Given the description of an element on the screen output the (x, y) to click on. 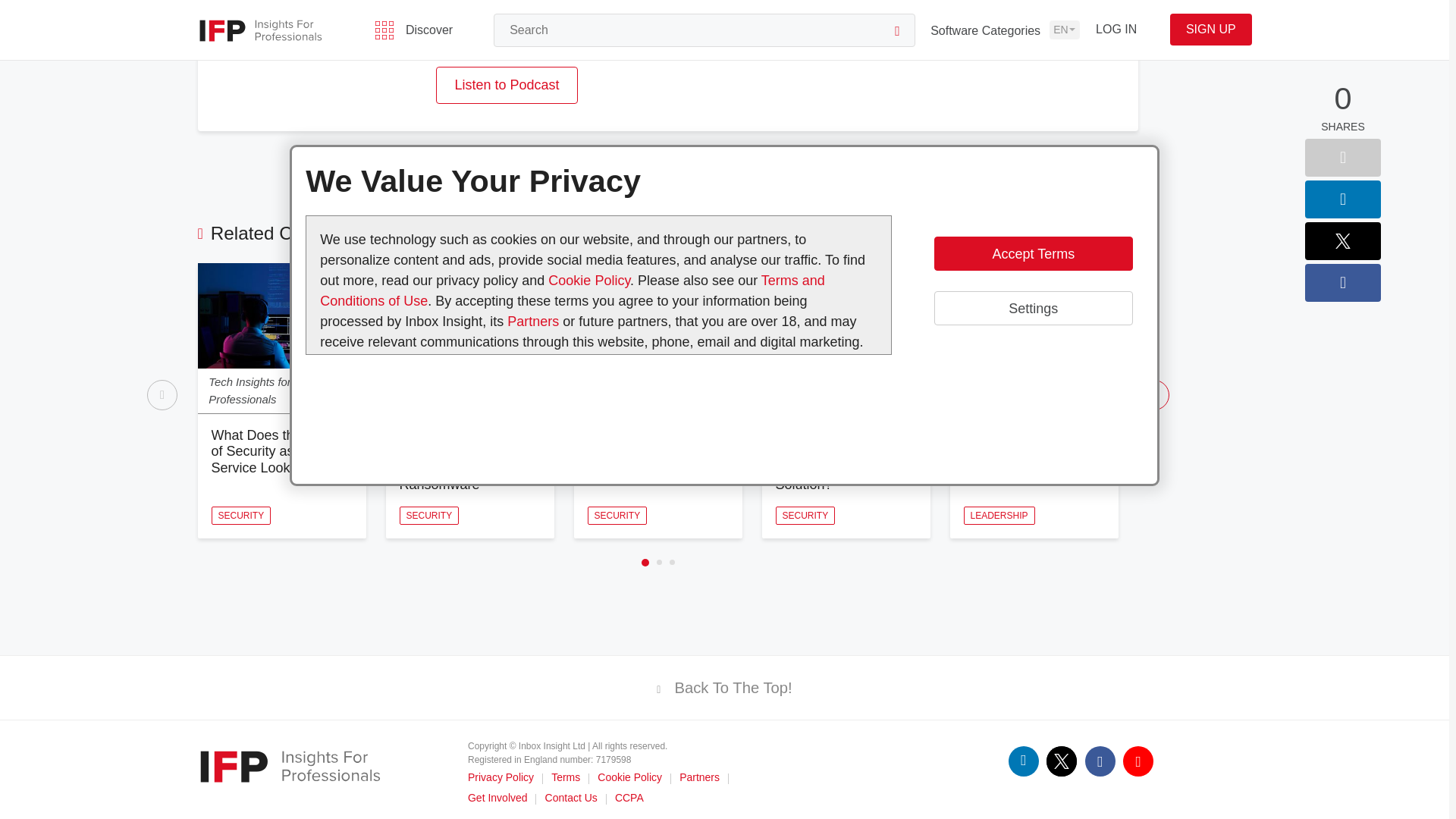
Twitter (1061, 761)
LinkedIn (1024, 761)
5 Ways to Invest Your Remaining Infosec Budget (1028, 451)
What Does the Future of Security as a Service Look Like? (277, 451)
Your Security Team is Overworked: How to Give Time Back (651, 451)
YouTube (1137, 761)
Facebook (1099, 761)
